Given the description of an element on the screen output the (x, y) to click on. 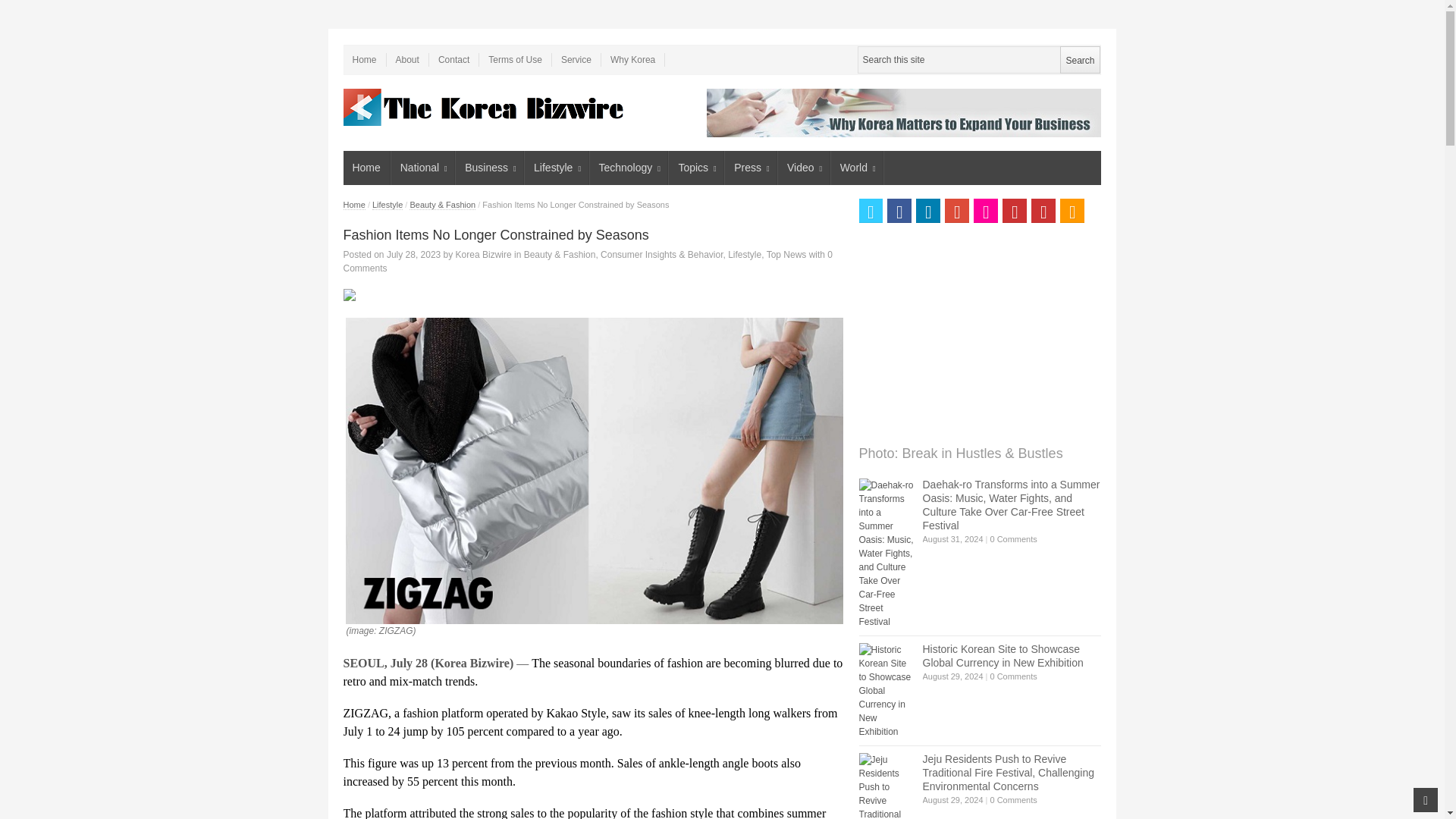
Home (363, 59)
Be Korea-savvy (484, 107)
Service (576, 59)
View all posts in Lifestyle (744, 254)
Contact (454, 59)
1:19 am (414, 254)
Comment on Fashion Items No Longer Constrained by Seasons (587, 261)
Search this site (978, 59)
Print page (592, 295)
Home (366, 167)
